Given the description of an element on the screen output the (x, y) to click on. 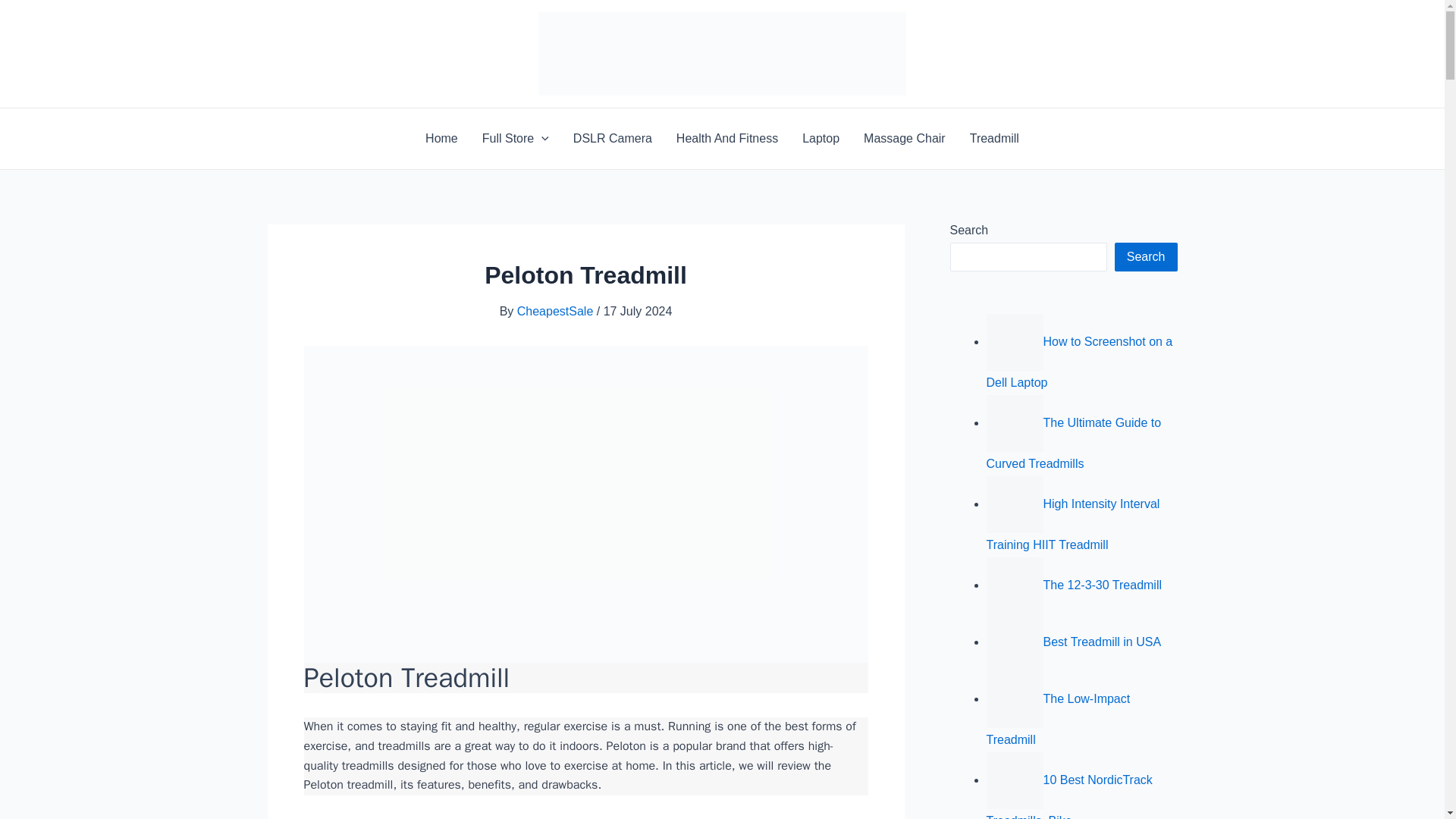
Laptop (820, 138)
Massage Chair (904, 138)
Home (441, 138)
DSLR Camera (611, 138)
Treadmill (994, 138)
CheapestSale (556, 310)
Full Store (515, 138)
Health And Fitness (726, 138)
View all posts by CheapestSale (556, 310)
